Given the description of an element on the screen output the (x, y) to click on. 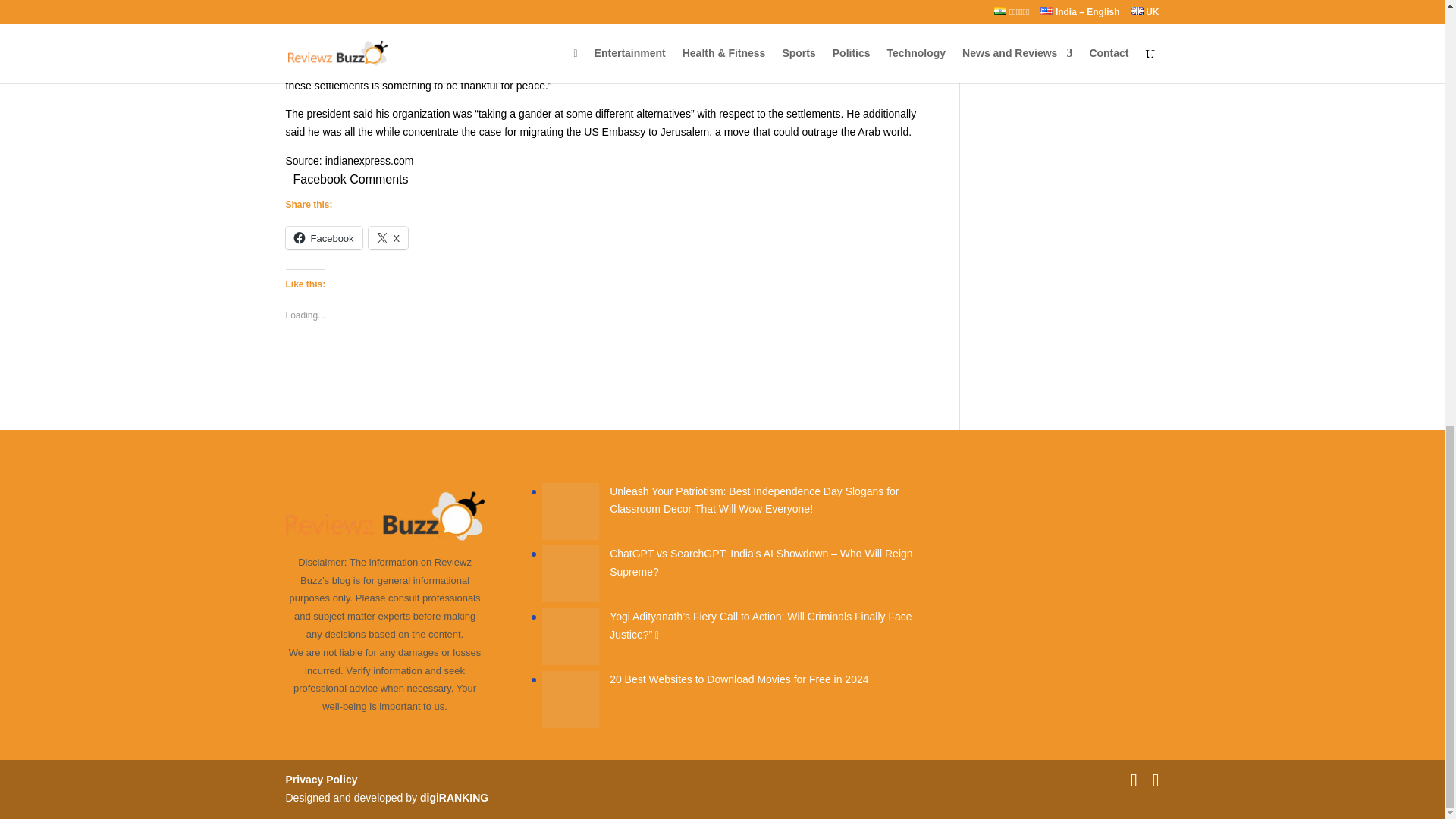
Facebook (323, 237)
Click to share on Facebook (323, 237)
X (388, 237)
Click to share on X (388, 237)
